Given the description of an element on the screen output the (x, y) to click on. 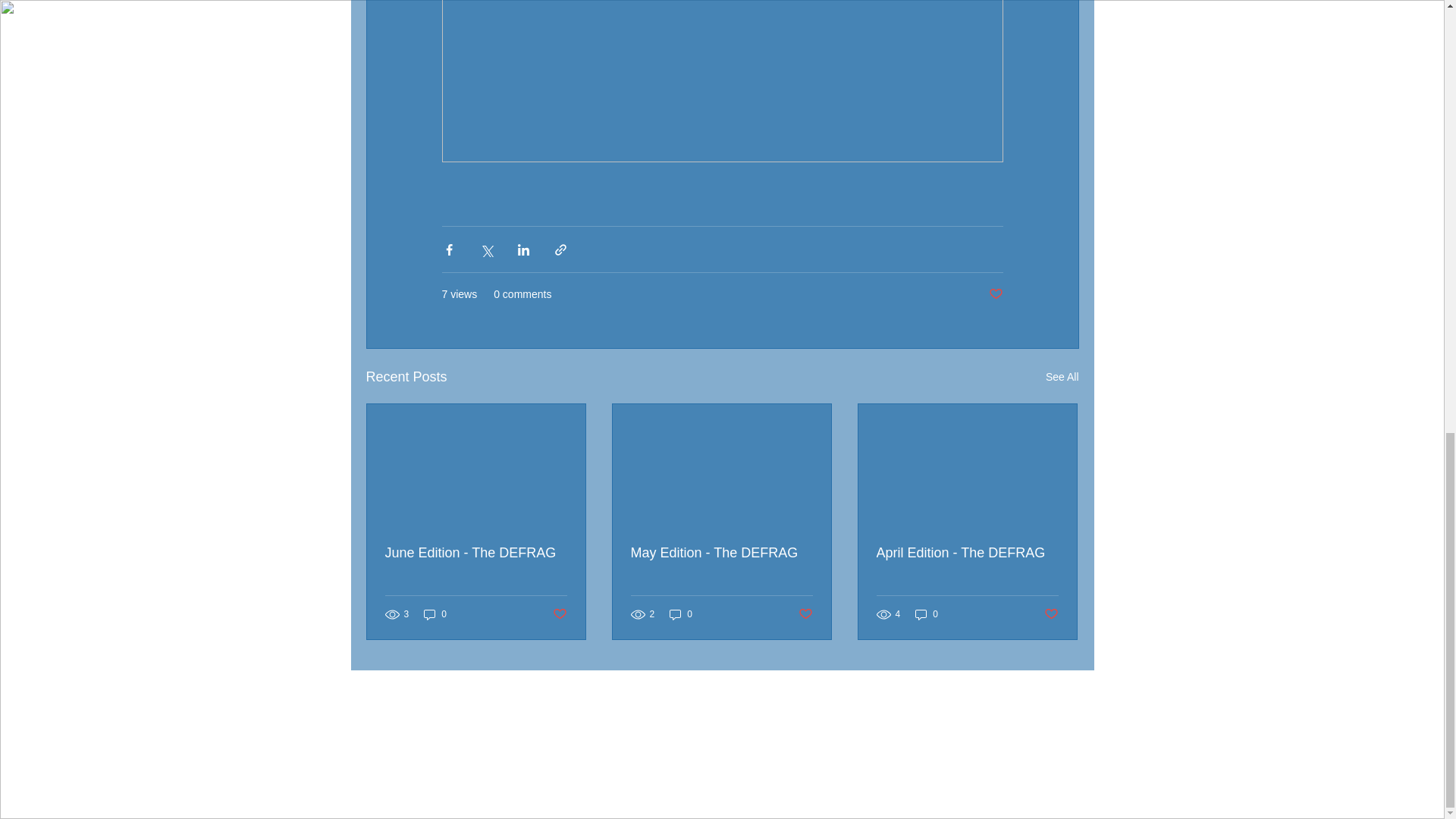
May Edition - The DEFRAG (721, 553)
June Edition - The DEFRAG (476, 553)
0 (681, 614)
Post not marked as liked (558, 614)
Post not marked as liked (995, 294)
0 (926, 614)
April Edition - The DEFRAG (967, 553)
Post not marked as liked (1050, 614)
0 (435, 614)
See All (1061, 377)
Post not marked as liked (804, 614)
